Given the description of an element on the screen output the (x, y) to click on. 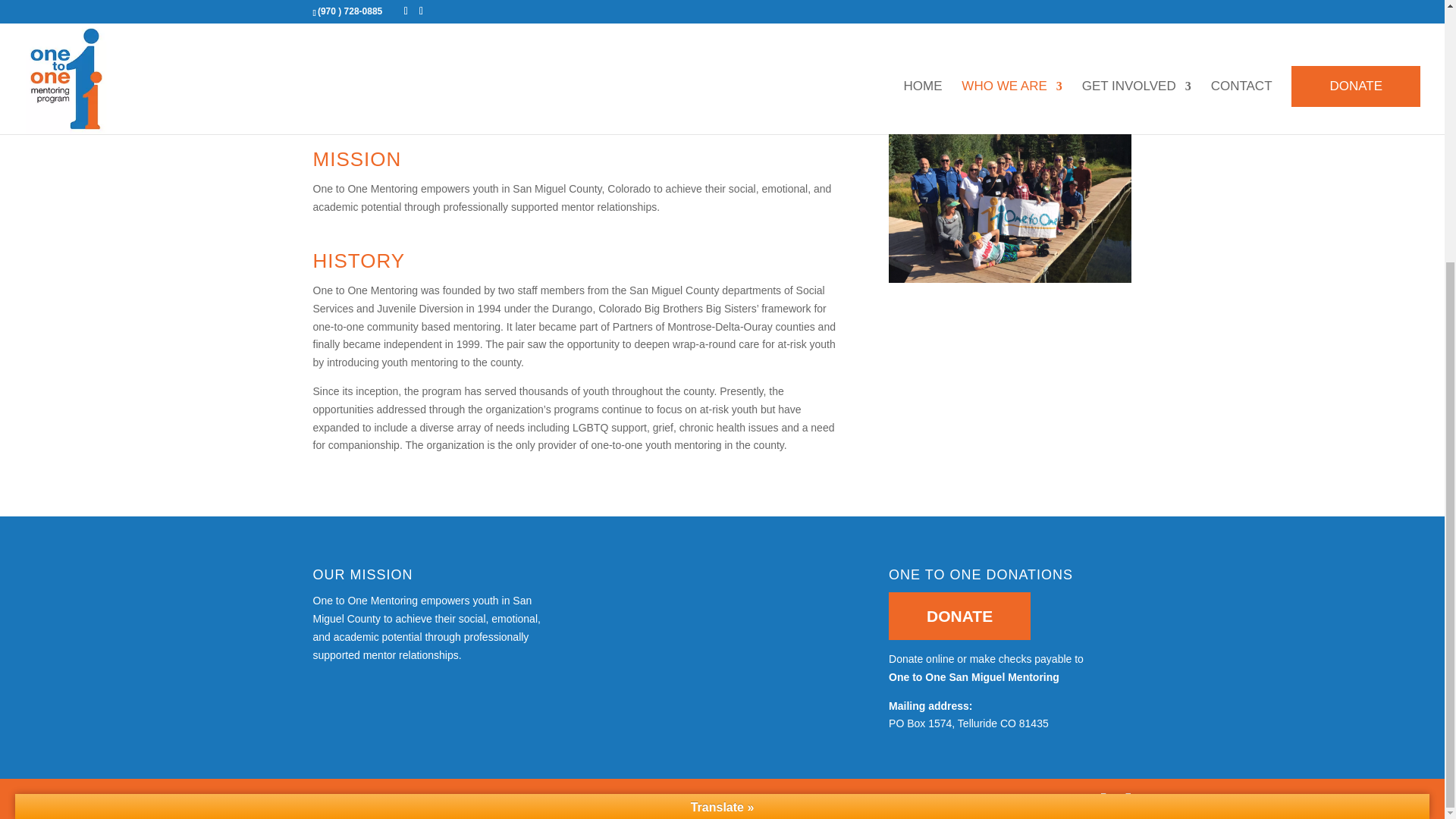
DONATE (959, 615)
ITZDigital (822, 798)
